Given the description of an element on the screen output the (x, y) to click on. 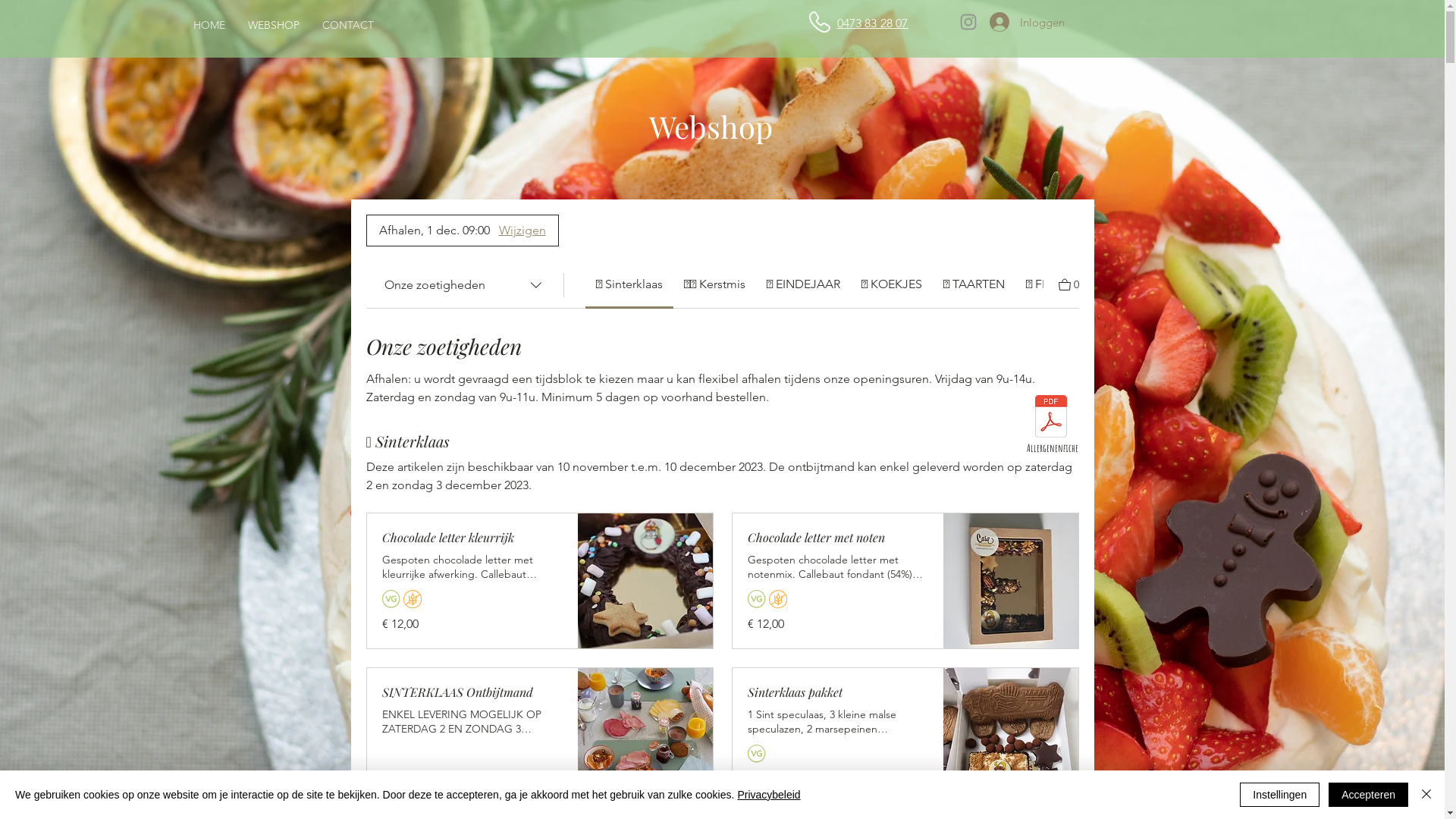
Privacybeleid Element type: text (768, 794)
SINTERKLAAS Ontbijtmand Element type: text (472, 692)
Accepteren Element type: text (1368, 794)
Allergenenfiche Cara patisserie.pdf Element type: hover (1050, 417)
Chocolade letter met noten Element type: text (837, 537)
0 Element type: text (1068, 283)
0473 83 28 07 Element type: text (872, 22)
Instellingen Element type: text (1279, 794)
Sinterklaas pakket Element type: text (837, 692)
CONTACT Element type: text (347, 24)
Onze zoetigheden Element type: text (463, 284)
HOME Element type: text (209, 24)
Chocolade letter kleurrijk Element type: text (472, 537)
Wijzigen Element type: text (522, 230)
Inloggen Element type: text (1023, 21)
WEBSHOP Element type: text (273, 24)
